Given the description of an element on the screen output the (x, y) to click on. 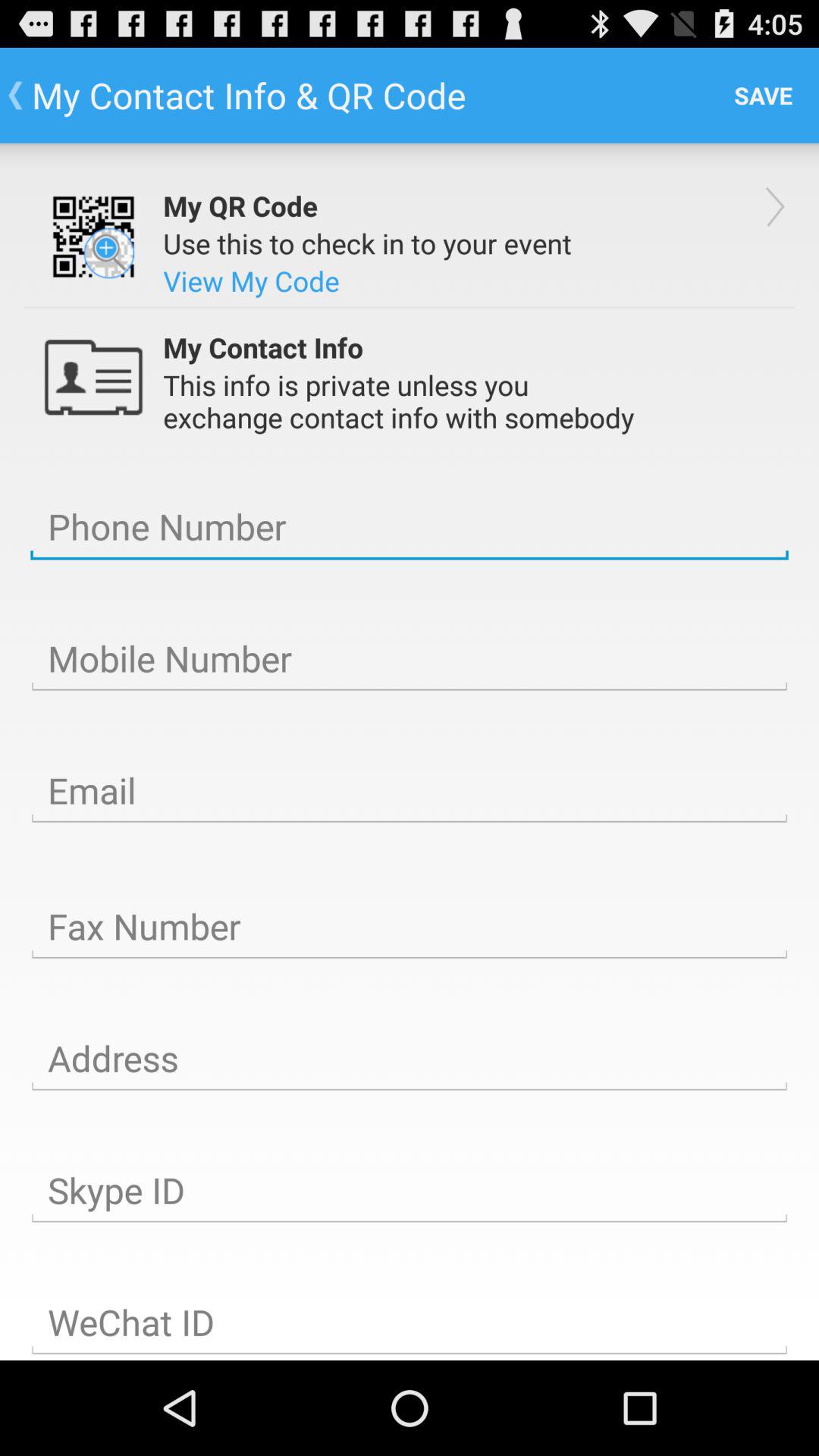
enter email address (409, 790)
